Given the description of an element on the screen output the (x, y) to click on. 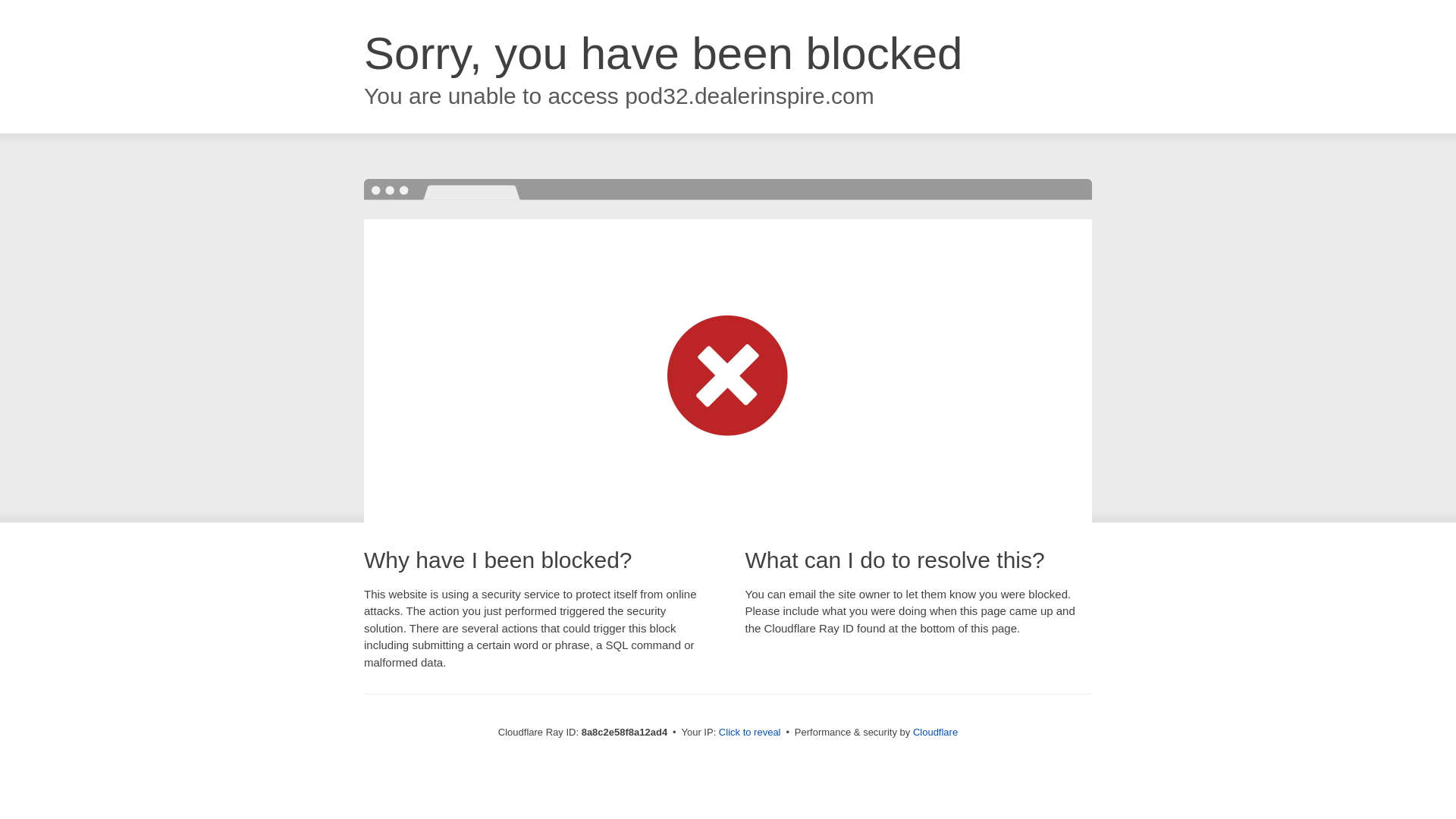
Click to reveal (749, 732)
Cloudflare (935, 731)
